Given the description of an element on the screen output the (x, y) to click on. 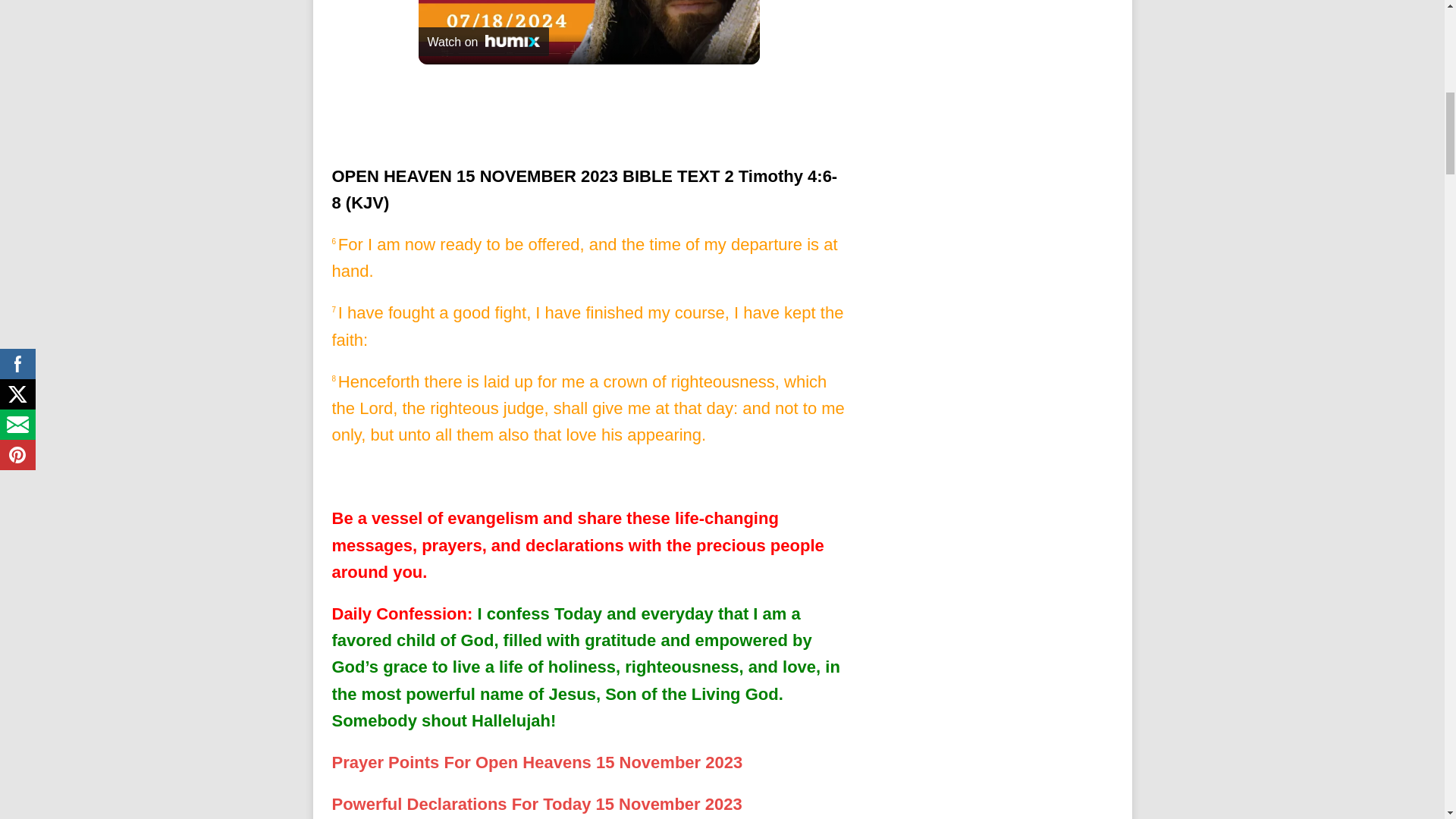
Powerful Declarations For Today 15 November 2023 (536, 804)
Prayer Points For Open Heavens 15 November 2023 (536, 762)
Watch on (483, 41)
